Given the description of an element on the screen output the (x, y) to click on. 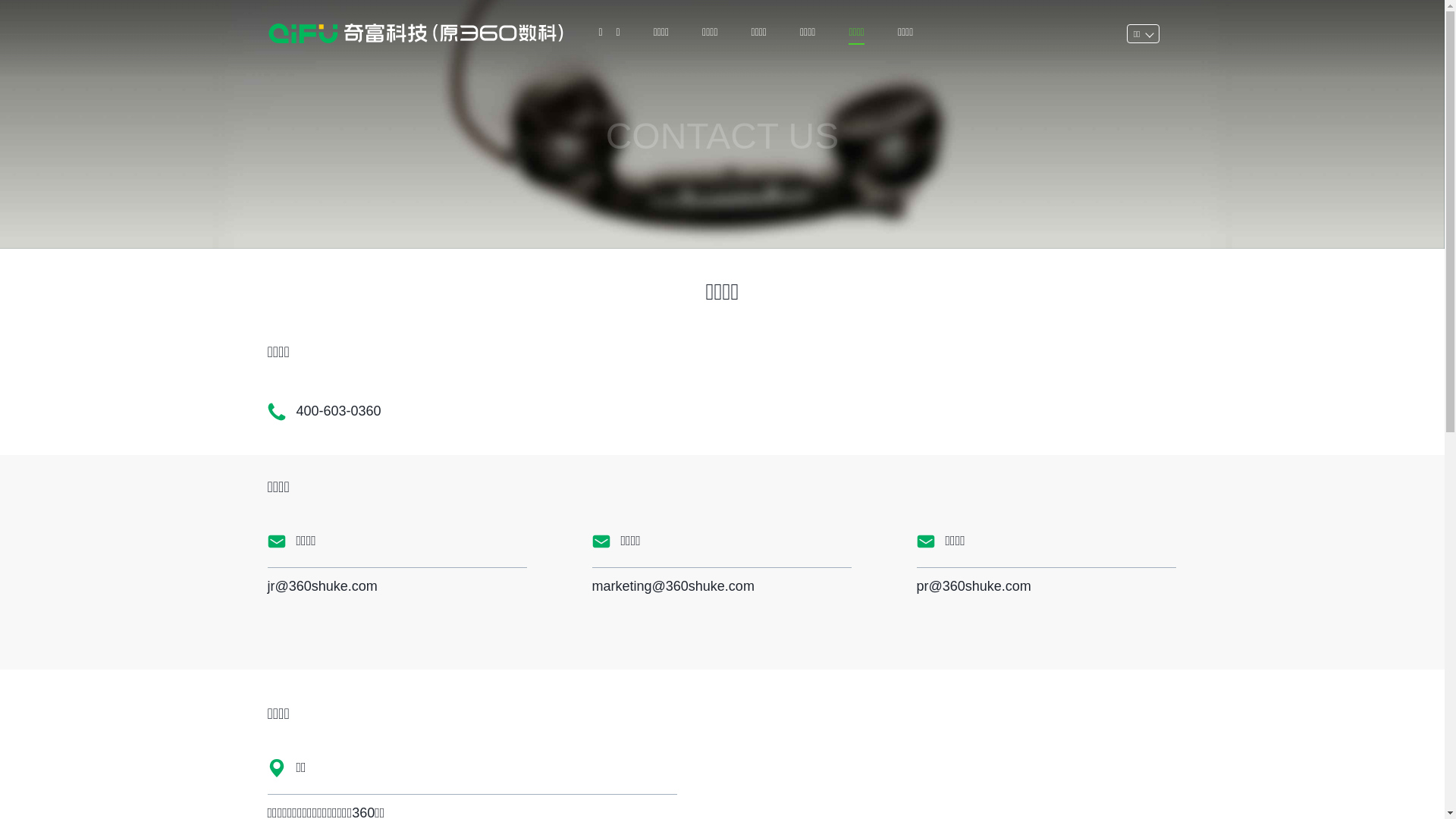
marketing@360shuke.com Element type: text (672, 585)
pr@360shuke.com Element type: text (973, 585)
jr@360shuke.com Element type: text (321, 585)
